Given the description of an element on the screen output the (x, y) to click on. 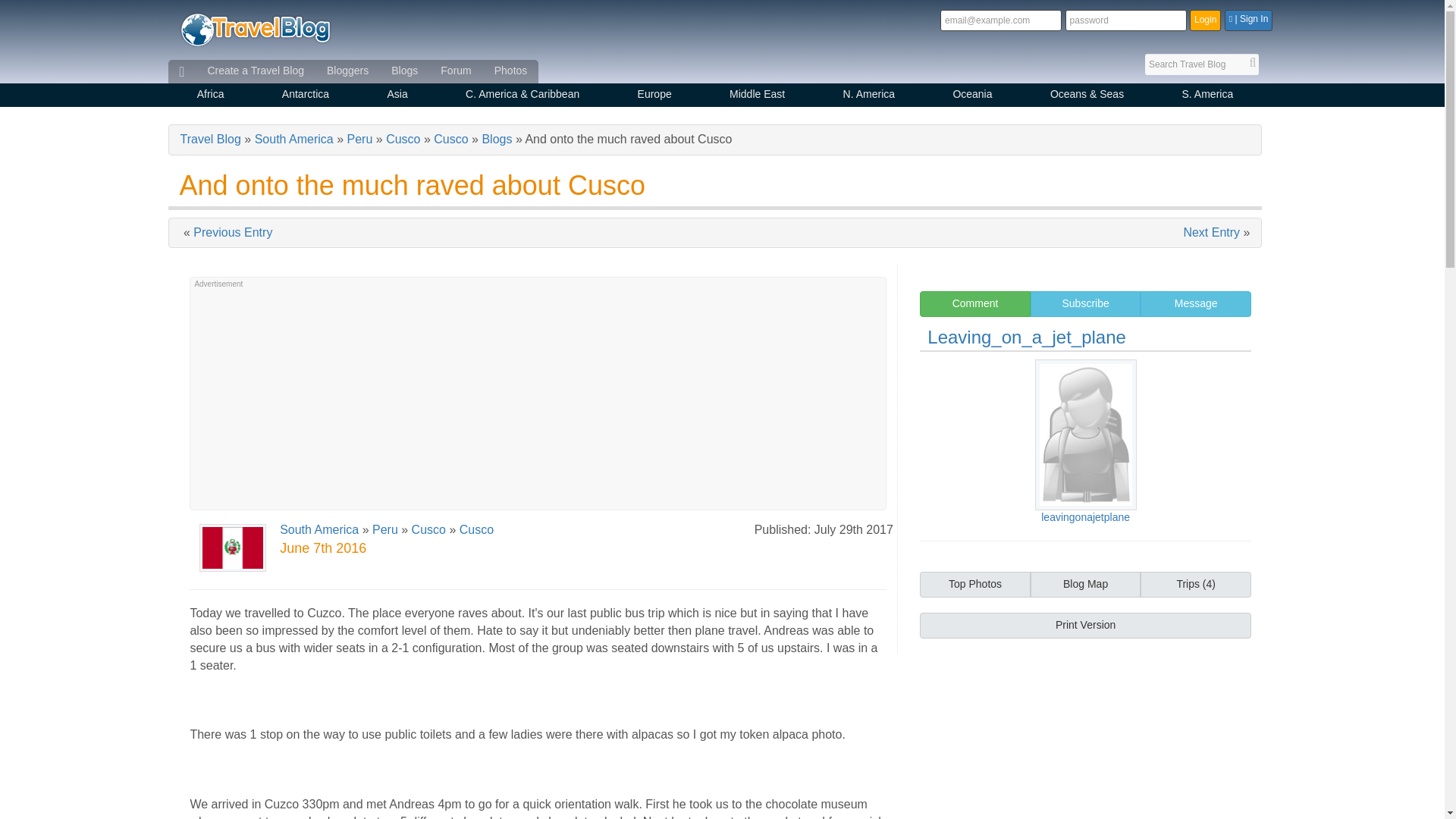
Bloggers (347, 71)
Oceania (972, 95)
Africa (210, 95)
Travel Blog (255, 29)
Photos (510, 71)
Antarctica (305, 95)
Middle East (756, 95)
Asia (397, 95)
Sign in with Facebook (1248, 20)
Forum (455, 71)
